Given the description of an element on the screen output the (x, y) to click on. 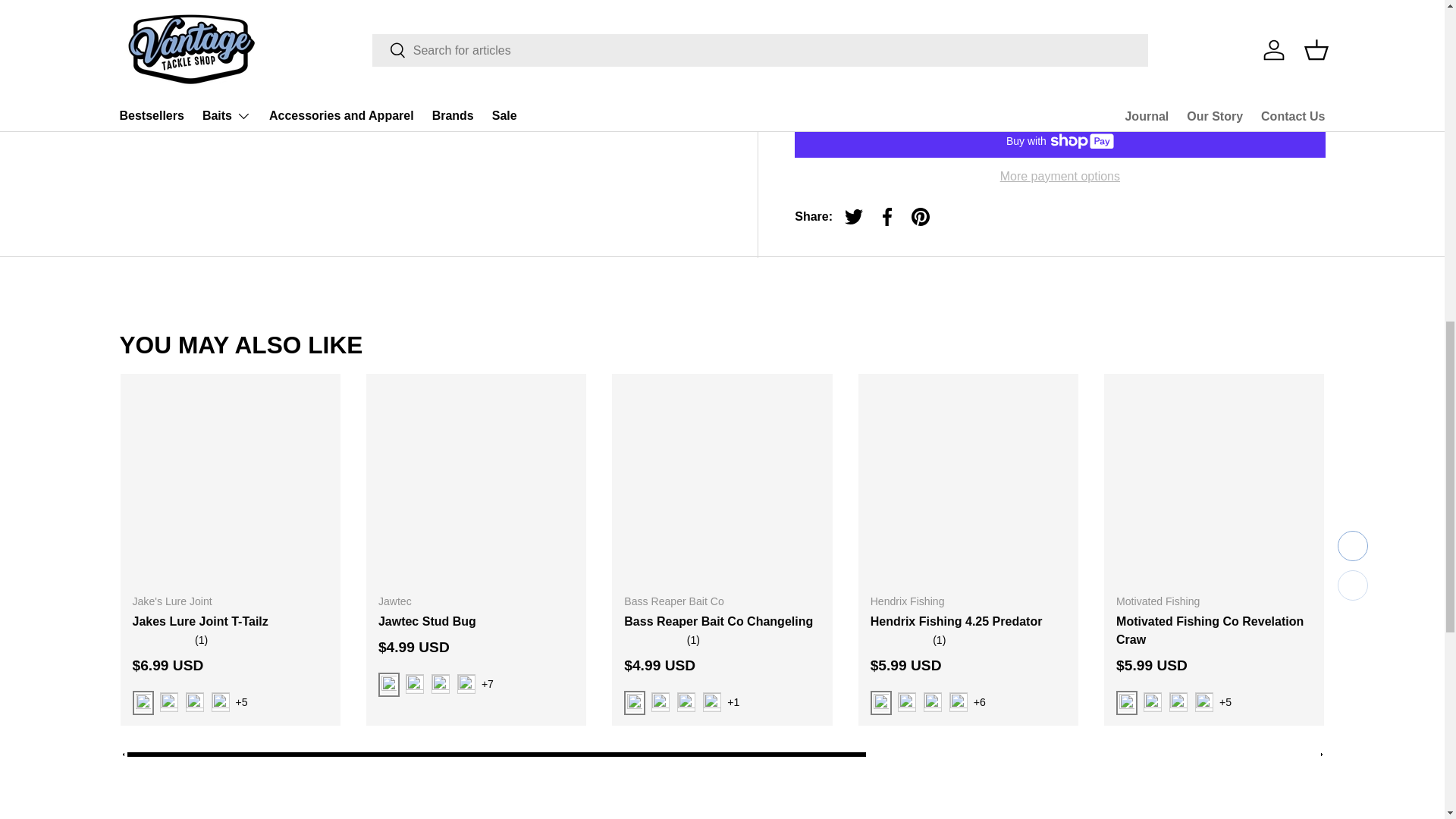
Watermelon Seed (414, 683)
1 (866, 92)
Old Purple (711, 701)
Watermelon Red Flake (686, 701)
June Bug (659, 701)
